Given the description of an element on the screen output the (x, y) to click on. 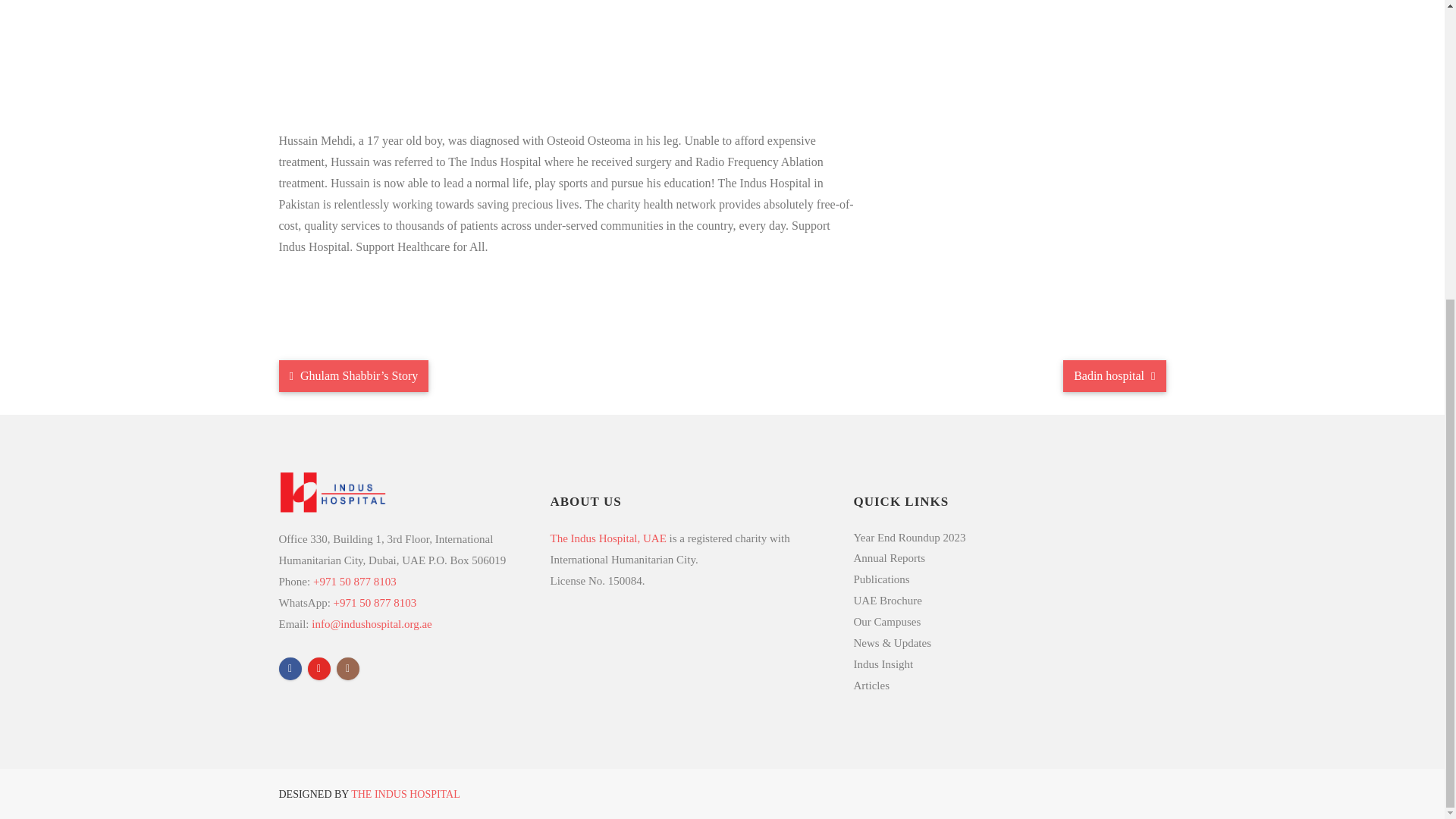
Call Us (354, 581)
Year End Roundup 2023 (993, 537)
Badin hospital (1114, 376)
Annual Reports (993, 557)
The Indus Hospital, UAE (608, 537)
